Given the description of an element on the screen output the (x, y) to click on. 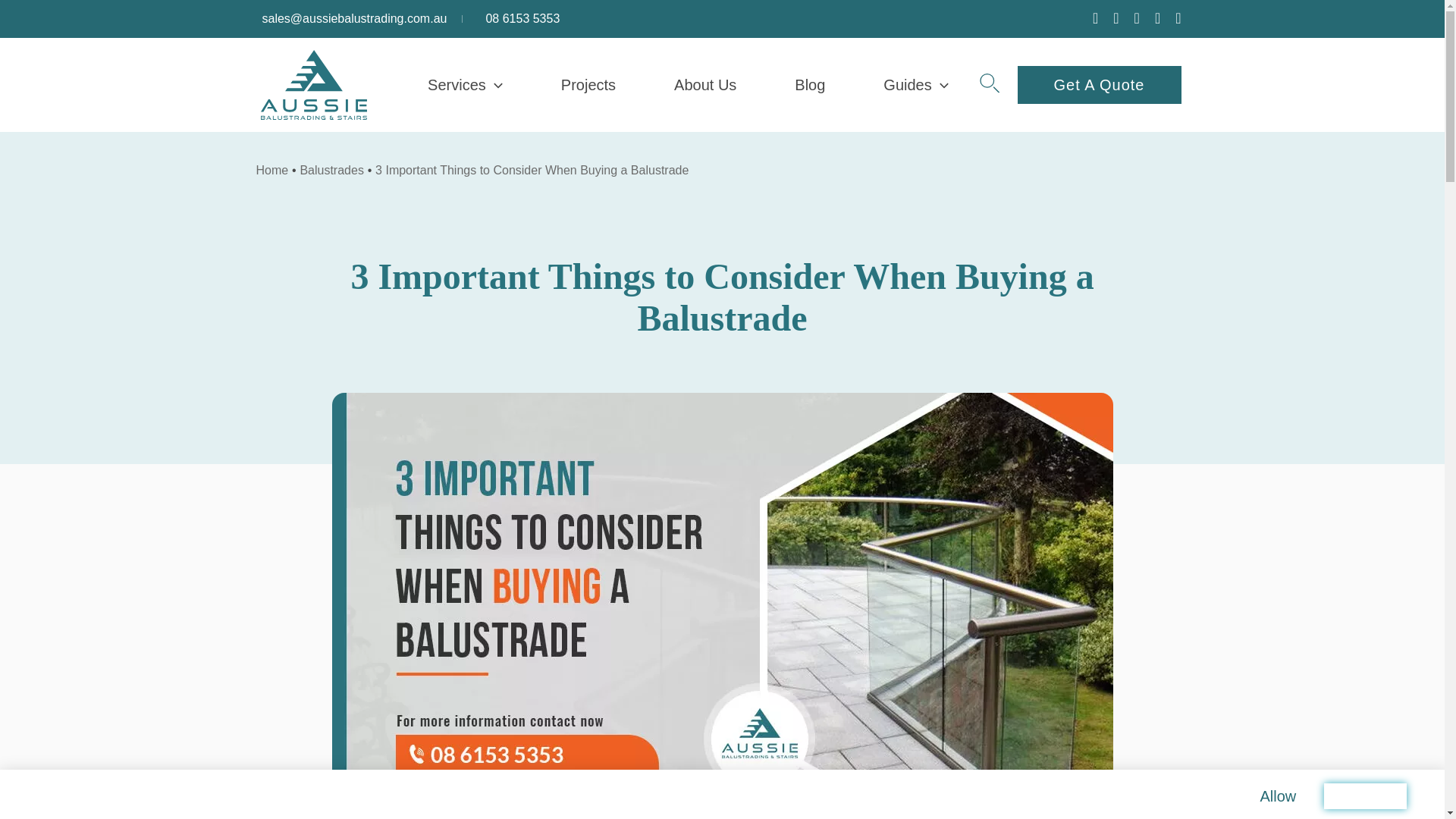
Guides (914, 84)
Projects (588, 84)
Get A Quote (1098, 85)
Services (465, 84)
08 6153 5353 (521, 18)
About Us (705, 84)
